Given the description of an element on the screen output the (x, y) to click on. 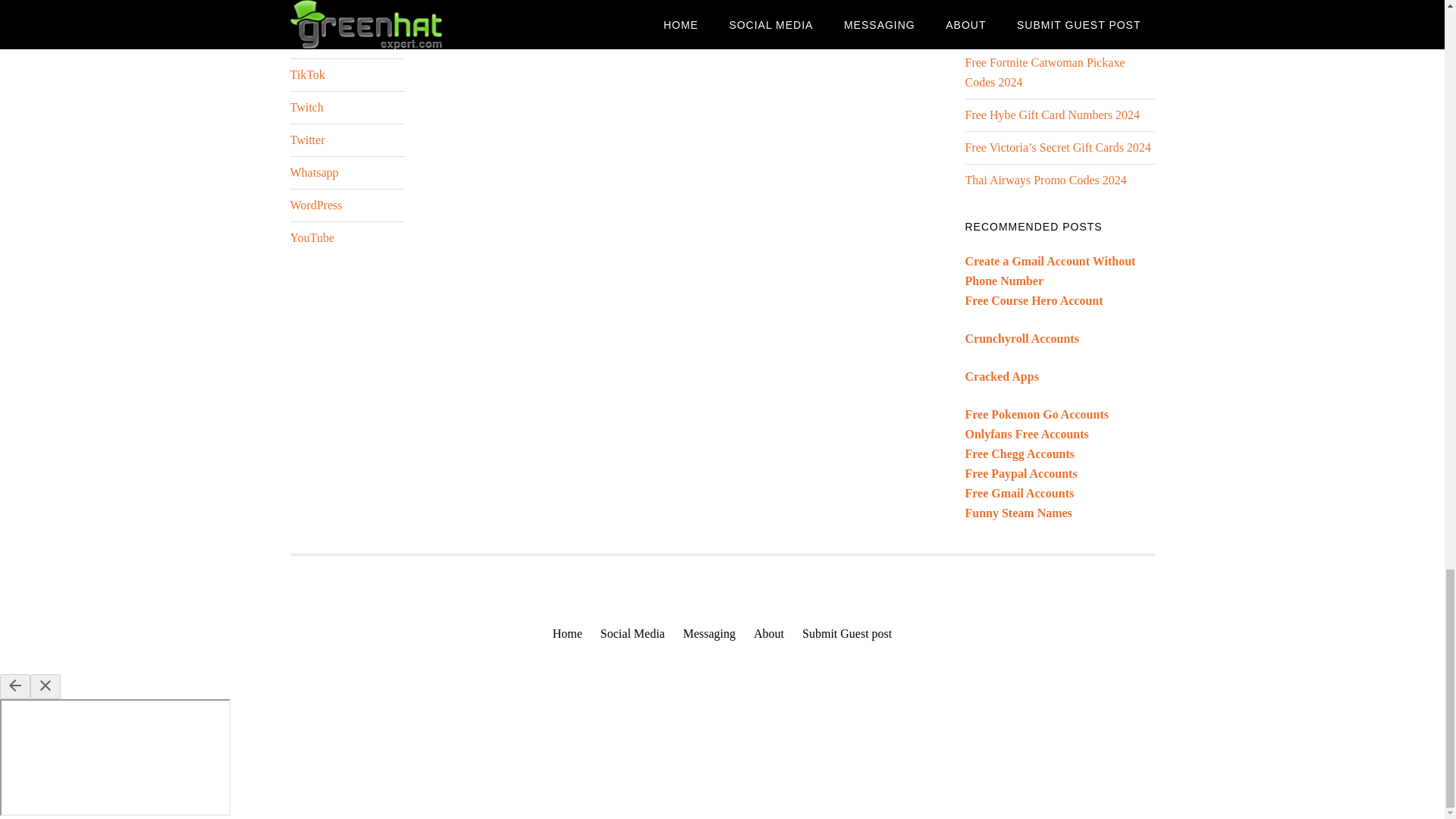
Free Bass Pro Shops Gift Cards 2024 (1054, 2)
